Given the description of an element on the screen output the (x, y) to click on. 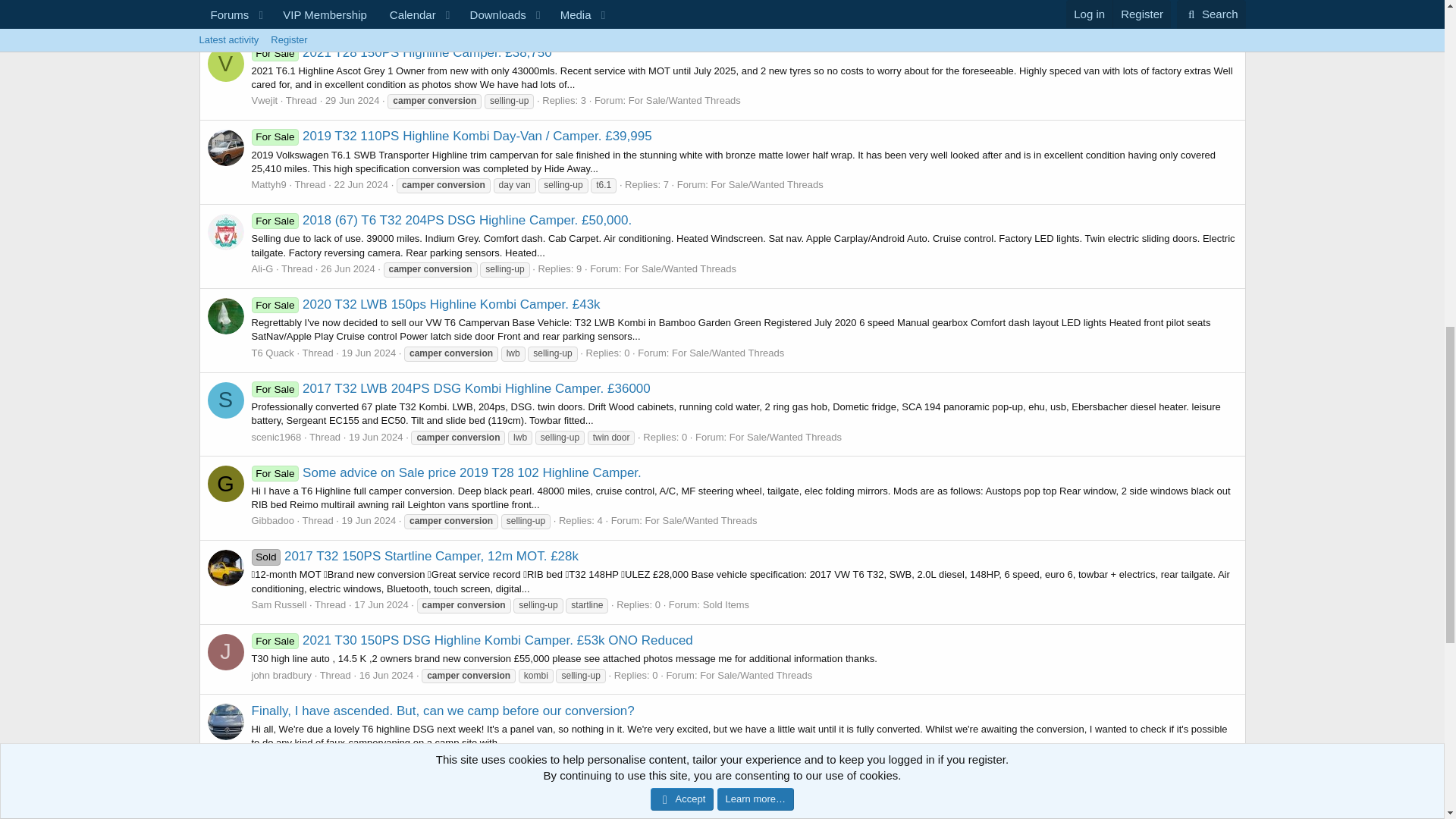
16 Jun 2024 at 12:49 (386, 674)
29 Jun 2024 at 19:54 (352, 100)
19 Jun 2024 at 16:59 (369, 352)
26 Jun 2024 at 20:57 (347, 268)
19 Jun 2024 at 15:30 (376, 436)
19 Jun 2024 at 13:34 (369, 520)
22 Jun 2024 at 11:33 (360, 184)
17 Jun 2024 at 10:09 (381, 604)
1 Jul 2024 at 14:56 (355, 16)
15 Jun 2024 at 19:17 (357, 758)
